Given the description of an element on the screen output the (x, y) to click on. 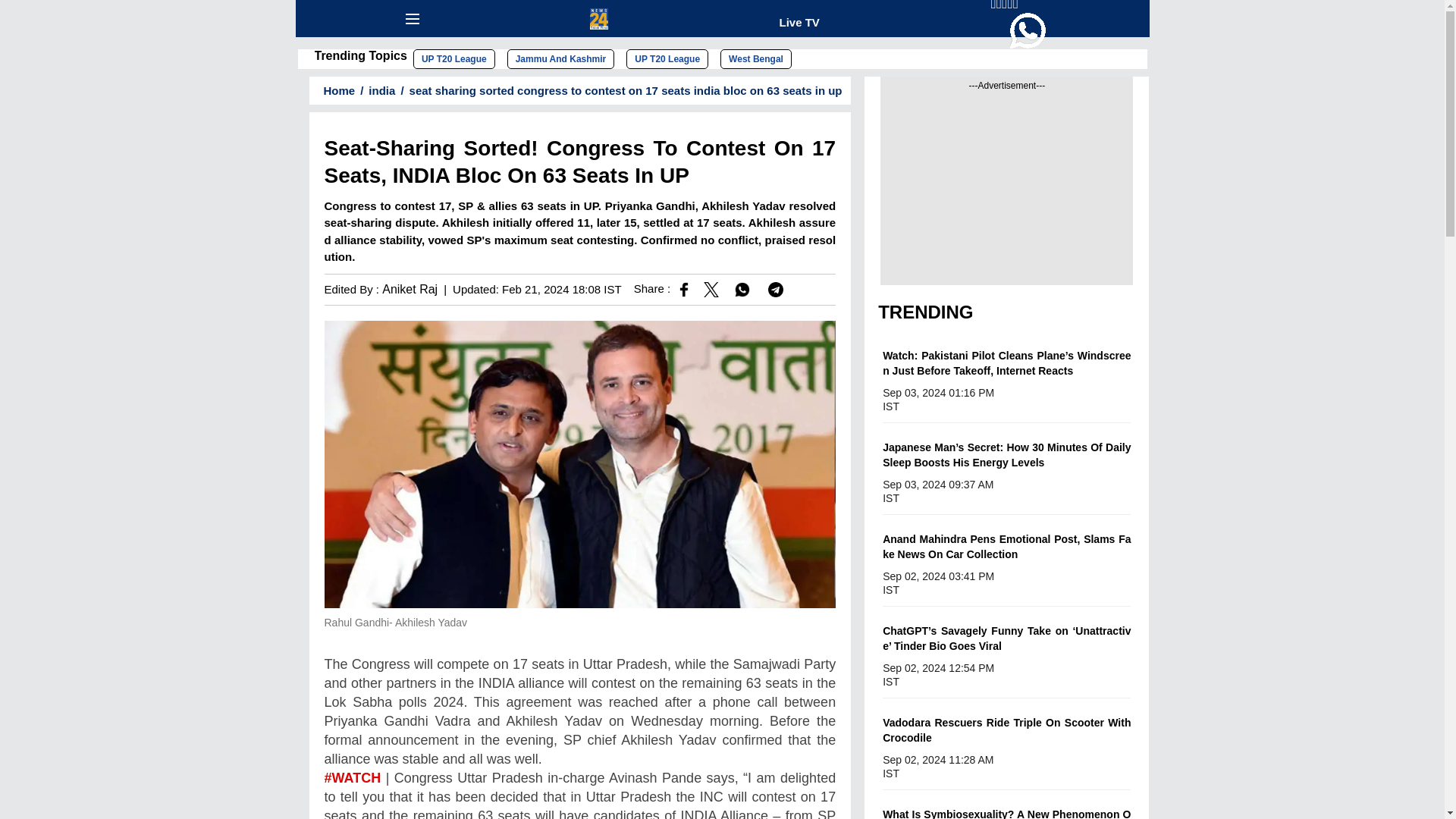
Home (334, 90)
Twitter (579, 794)
UP T20 League (454, 58)
West Bengal (756, 58)
UP T20 League (666, 58)
Aniket Raj (409, 288)
Jammu And Kashmir (560, 58)
Live TV (798, 21)
